Given the description of an element on the screen output the (x, y) to click on. 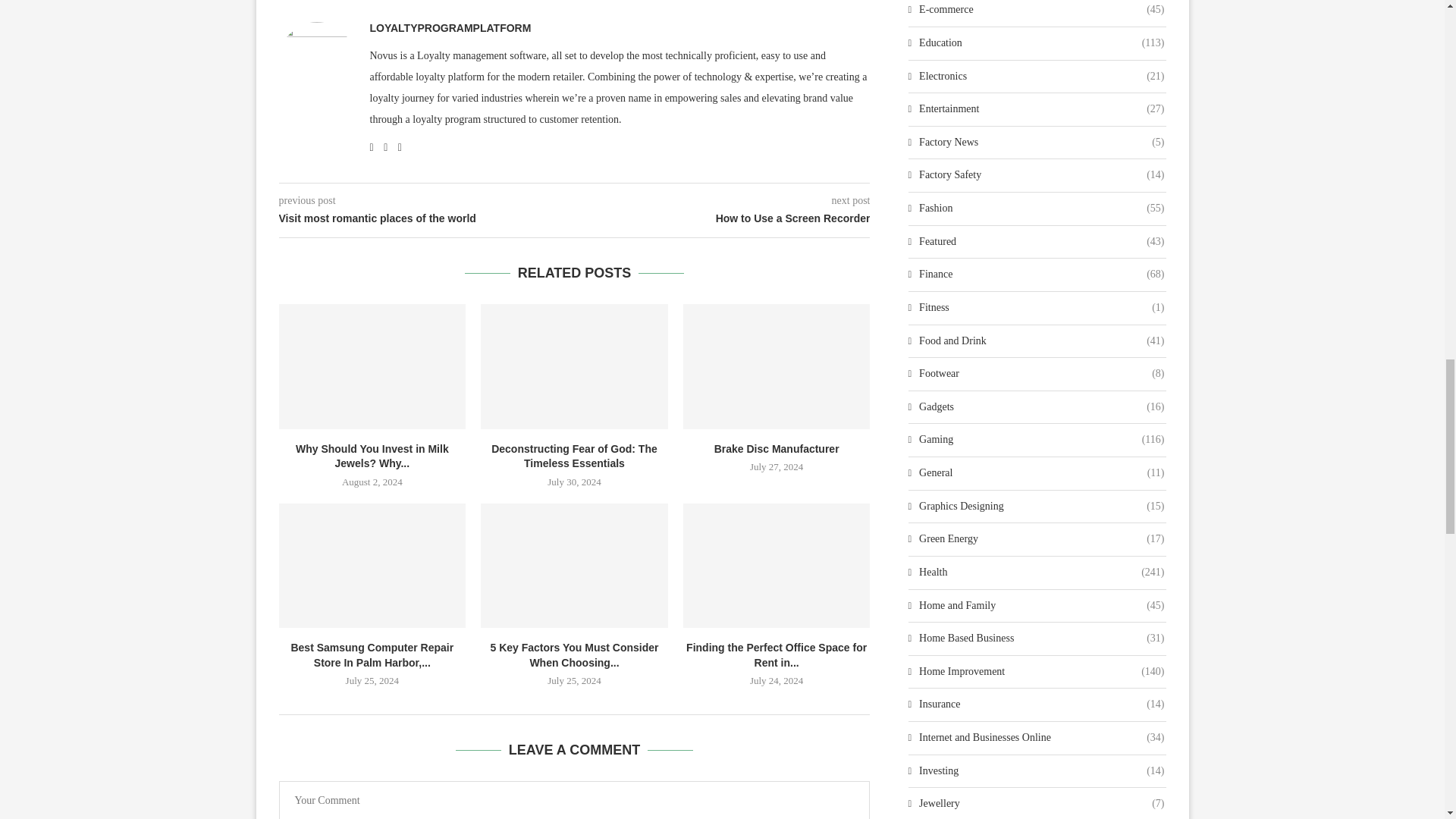
Visit most romantic places of the world (427, 218)
Author loyaltyprogramplatform (450, 28)
Best Samsung Computer Repair Store In Palm Harbor, Florida (372, 565)
LOYALTYPROGRAMPLATFORM (450, 28)
Deconstructing Fear of God: The Timeless Essentials (574, 365)
How to Use a Screen Recorder (722, 218)
Brake Disc Manufacturer (776, 365)
